Given the description of an element on the screen output the (x, y) to click on. 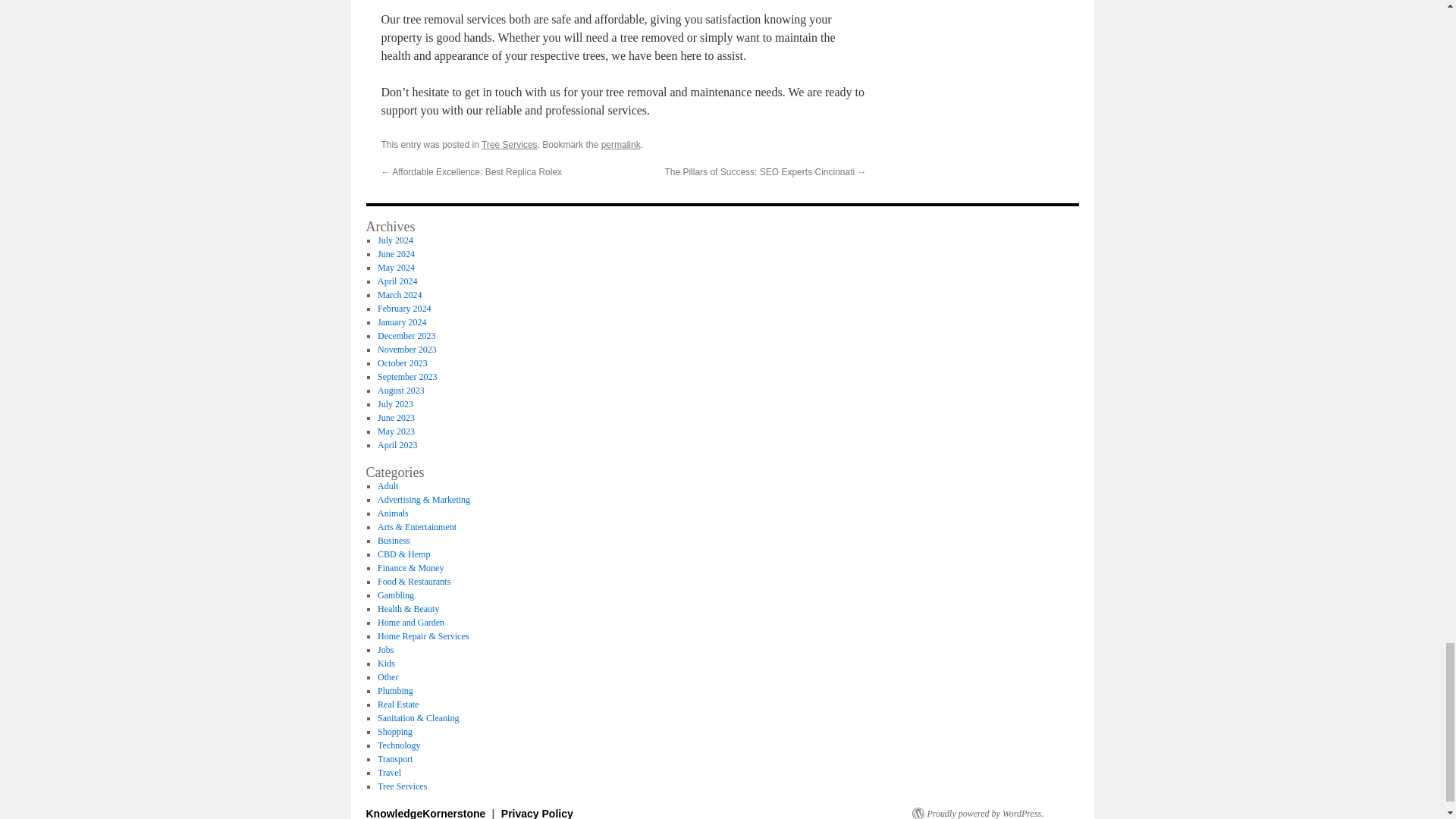
December 2023 (406, 335)
March 2024 (399, 294)
June 2023 (395, 417)
January 2024 (401, 321)
April 2023 (396, 444)
permalink (620, 144)
September 2023 (406, 376)
Tree Services (509, 144)
July 2023 (395, 403)
Animals (393, 512)
July 2024 (395, 240)
February 2024 (403, 308)
May 2023 (395, 430)
April 2024 (396, 281)
June 2024 (395, 253)
